Given the description of an element on the screen output the (x, y) to click on. 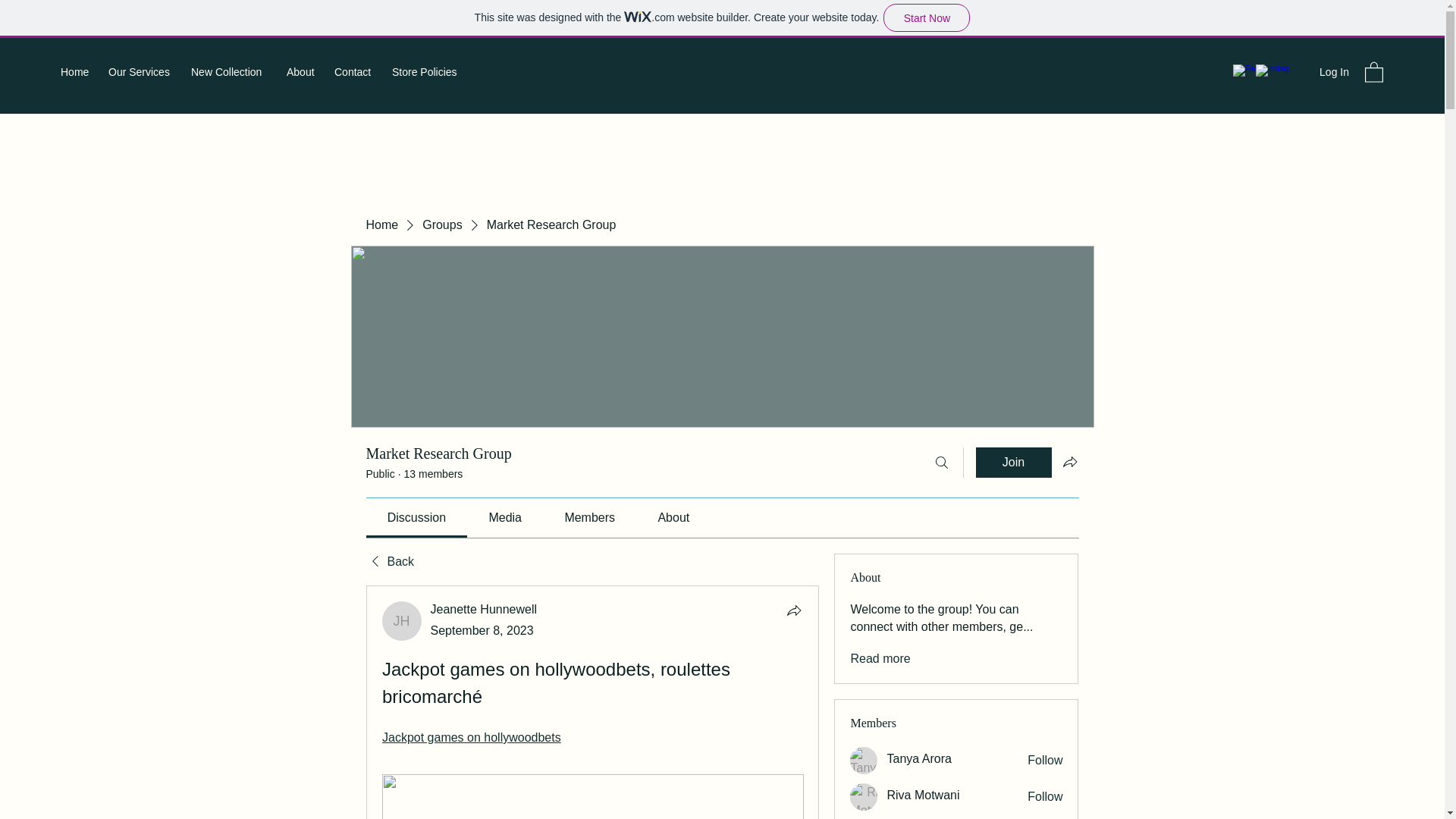
Tanya Arora (863, 759)
Store Policies (427, 71)
Read more (880, 658)
Jeanette Hunnewell (483, 608)
Jackpot games on hollywoodbets (470, 737)
Join (1013, 462)
Tanya Arora (918, 759)
About (302, 71)
Back (389, 561)
Riva Motwani (863, 796)
